Given the description of an element on the screen output the (x, y) to click on. 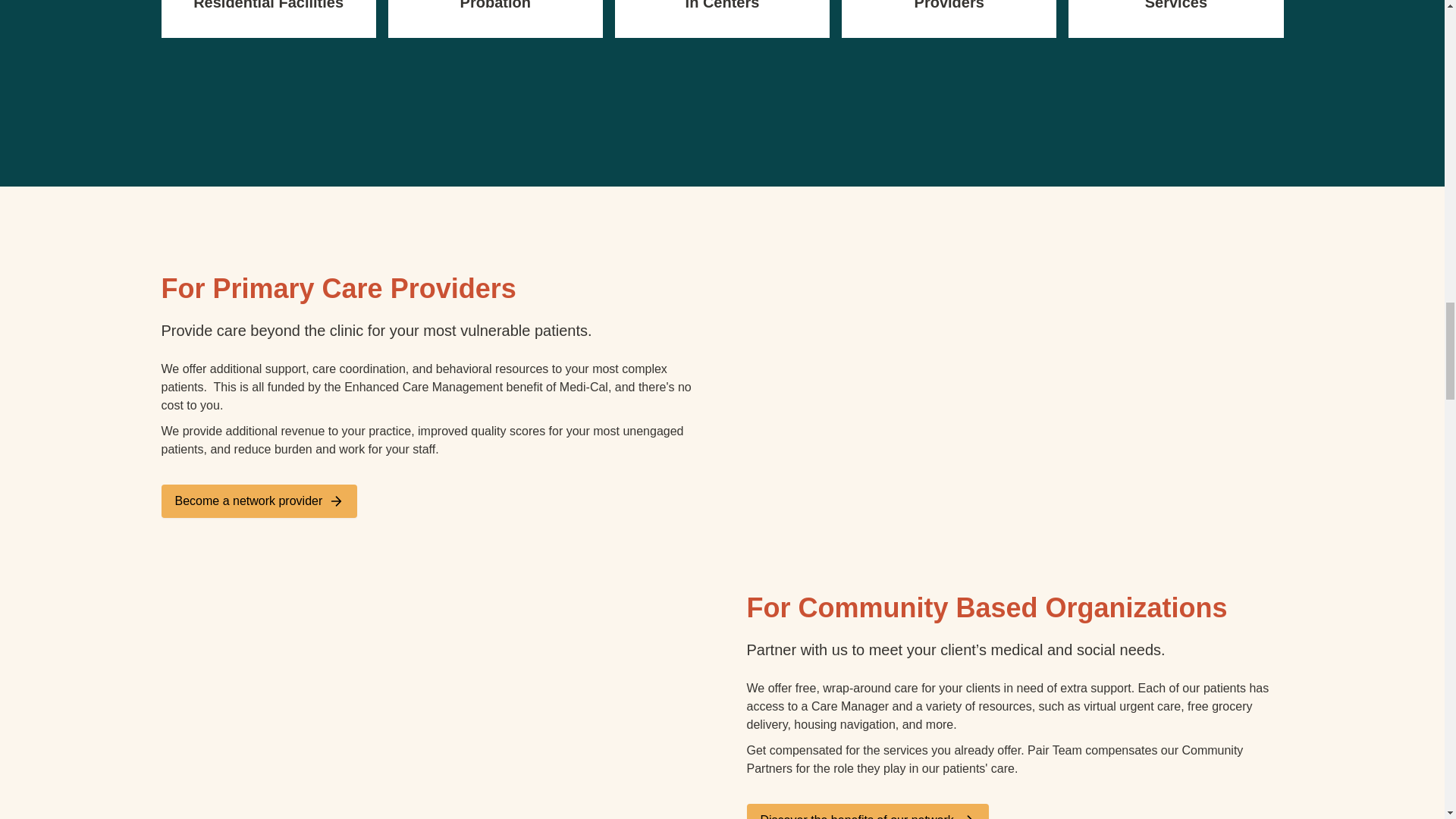
Discover the benefits of our network (866, 811)
Become a network provider (258, 500)
